Given the description of an element on the screen output the (x, y) to click on. 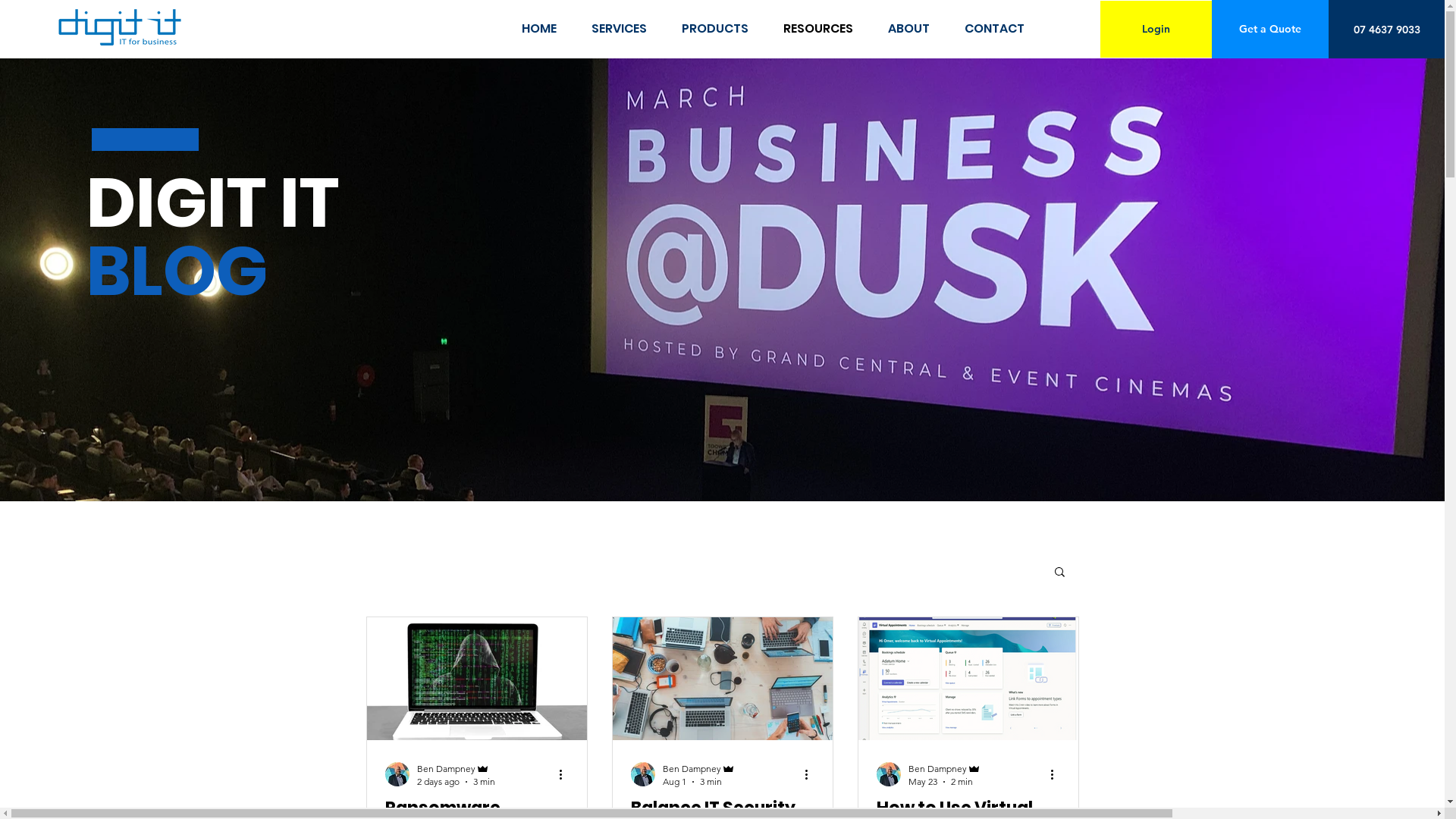
07 4637 9033 Element type: text (1386, 29)
RESOURCES Element type: text (817, 28)
Get a Quote Element type: text (1269, 29)
SERVICES Element type: text (619, 28)
HOME Element type: text (539, 28)
Login Element type: text (1155, 29)
CONTACT Element type: text (994, 28)
PRODUCTS Element type: text (714, 28)
ABOUT Element type: text (908, 28)
